Given the description of an element on the screen output the (x, y) to click on. 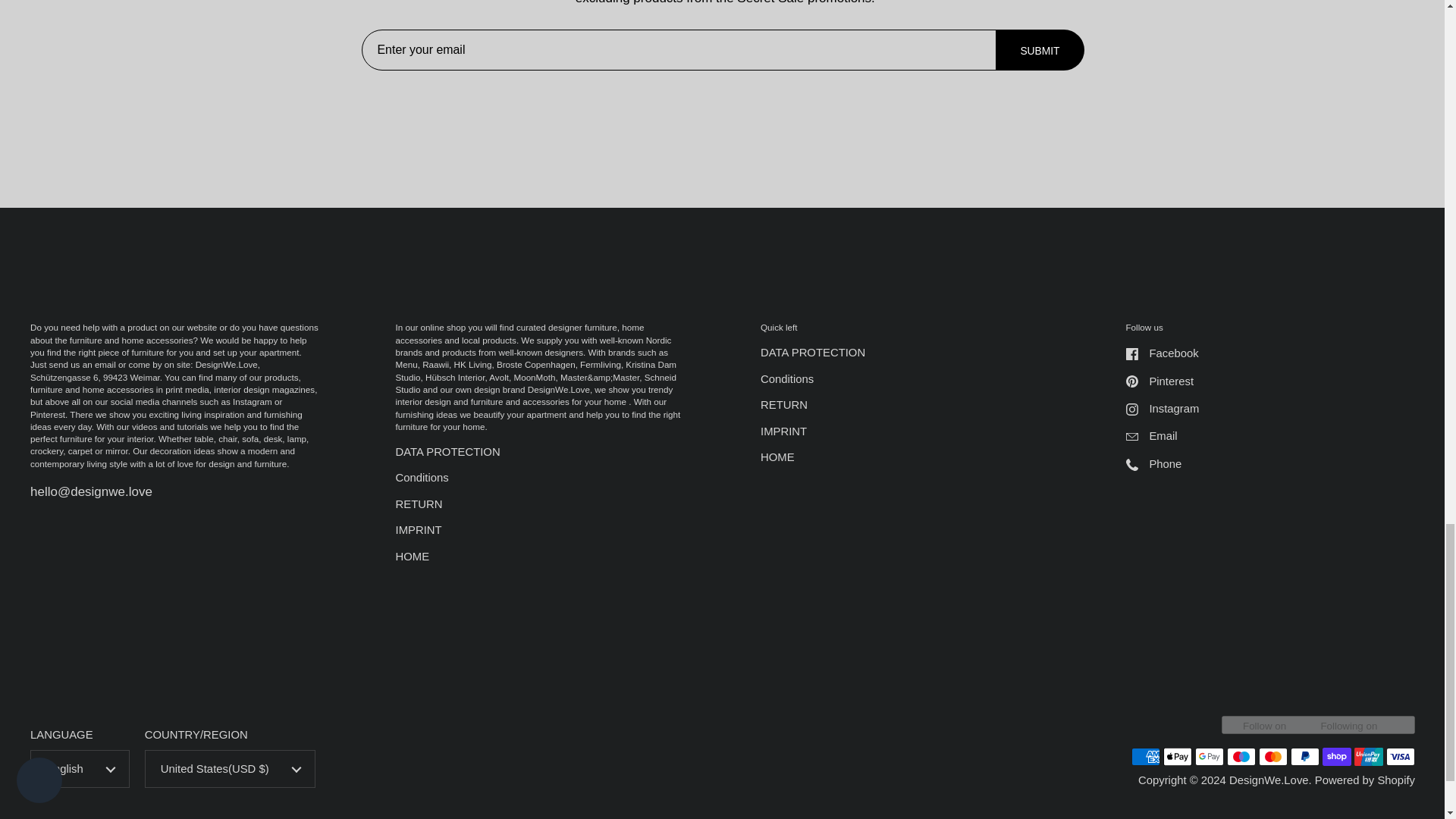
SUBMIT (1039, 50)
